Given the description of an element on the screen output the (x, y) to click on. 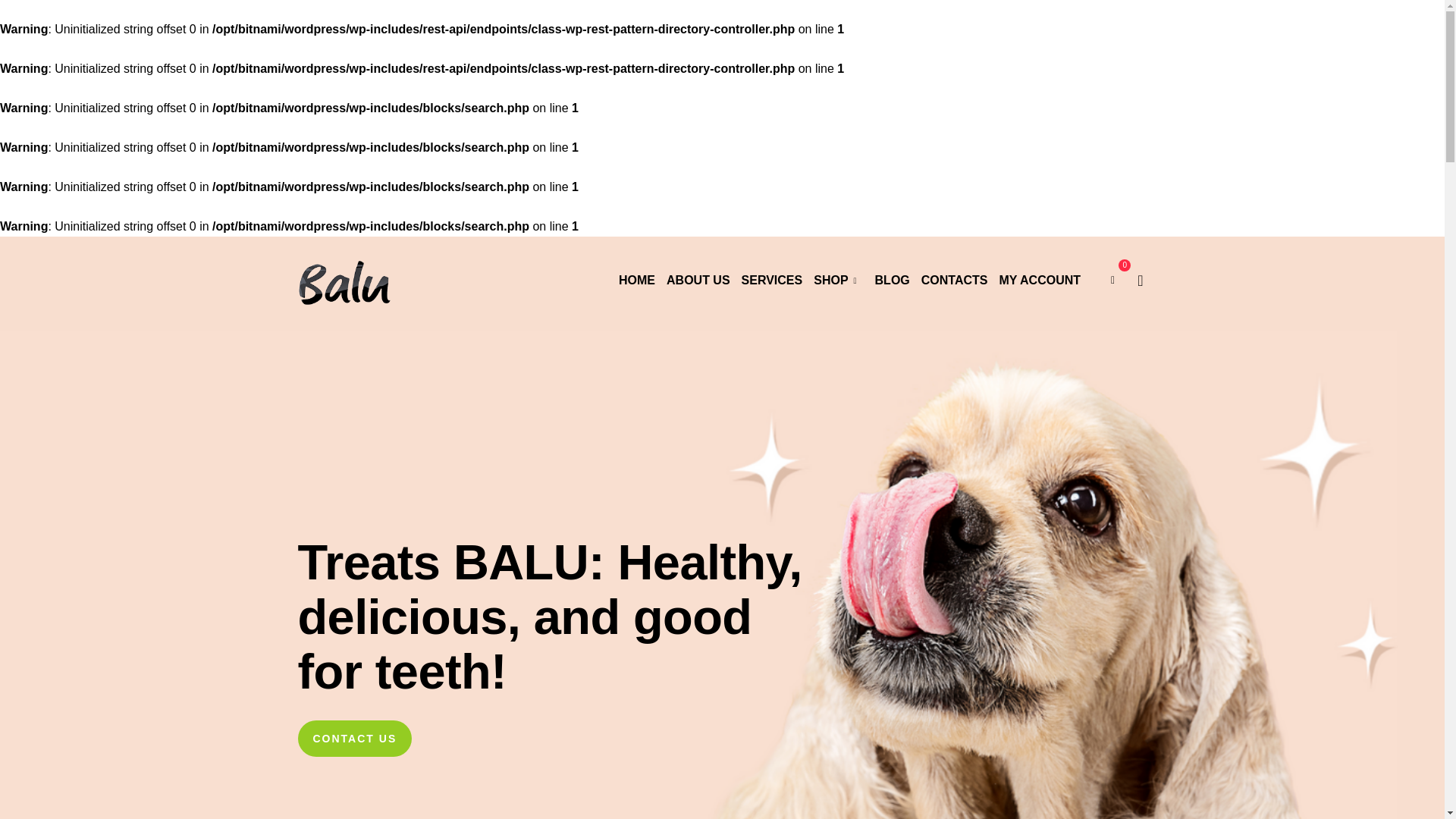
CONTACT US (354, 748)
SHOP (830, 280)
CONTACTS (954, 280)
ABOUT US (698, 280)
SERVICES (772, 280)
HOME (636, 280)
BLOG (892, 280)
MY ACCOUNT (1039, 280)
